Given the description of an element on the screen output the (x, y) to click on. 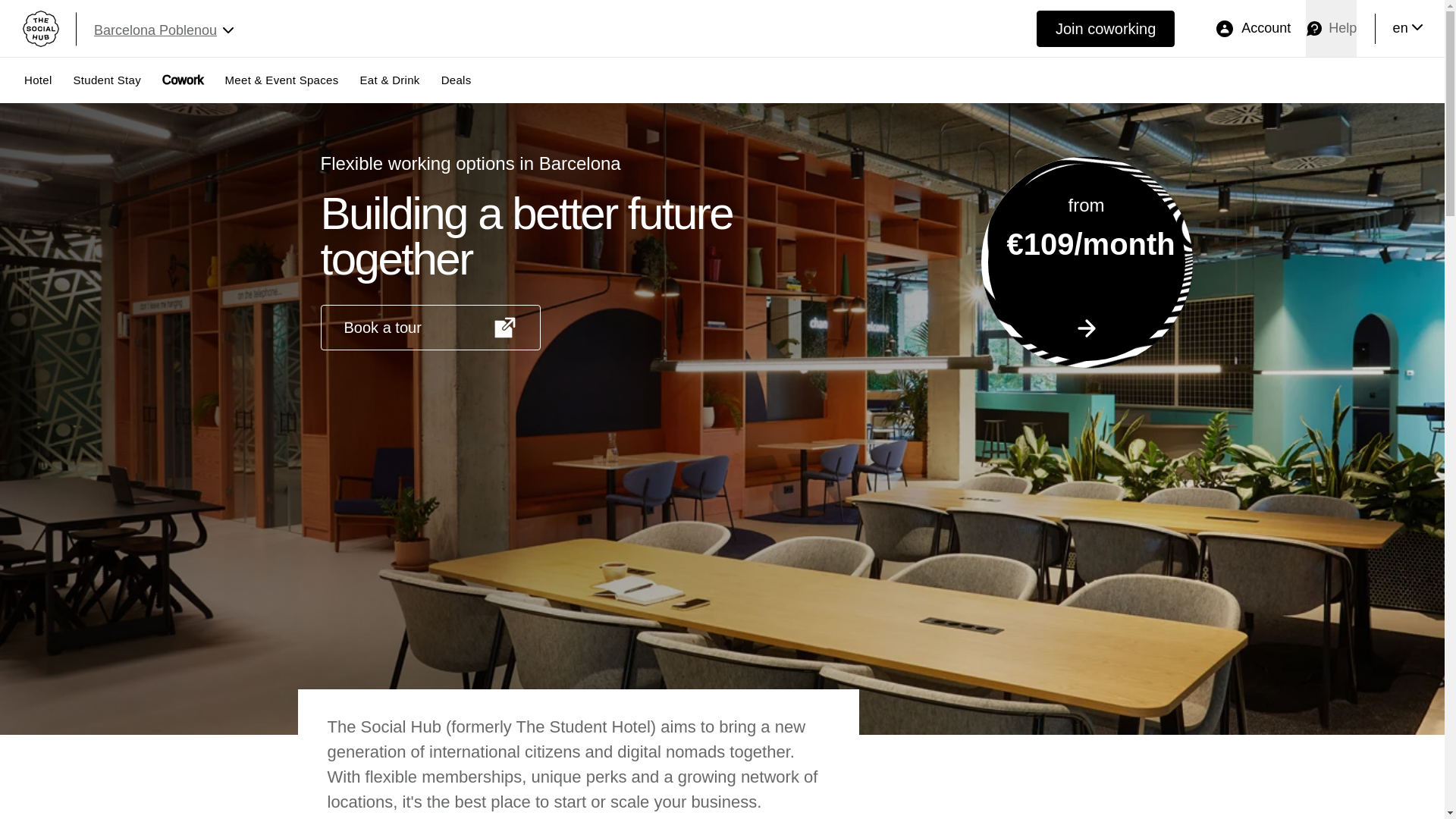
Student Stay (118, 80)
Student Stay (118, 80)
Hotel (49, 80)
Deals (467, 80)
Cowork (193, 80)
Hotel (49, 80)
Barcelona Poblenou (179, 27)
Help (1331, 28)
Cowork (193, 80)
The Social Hub (36, 30)
Deals (1408, 27)
Join coworking (467, 80)
